Given the description of an element on the screen output the (x, y) to click on. 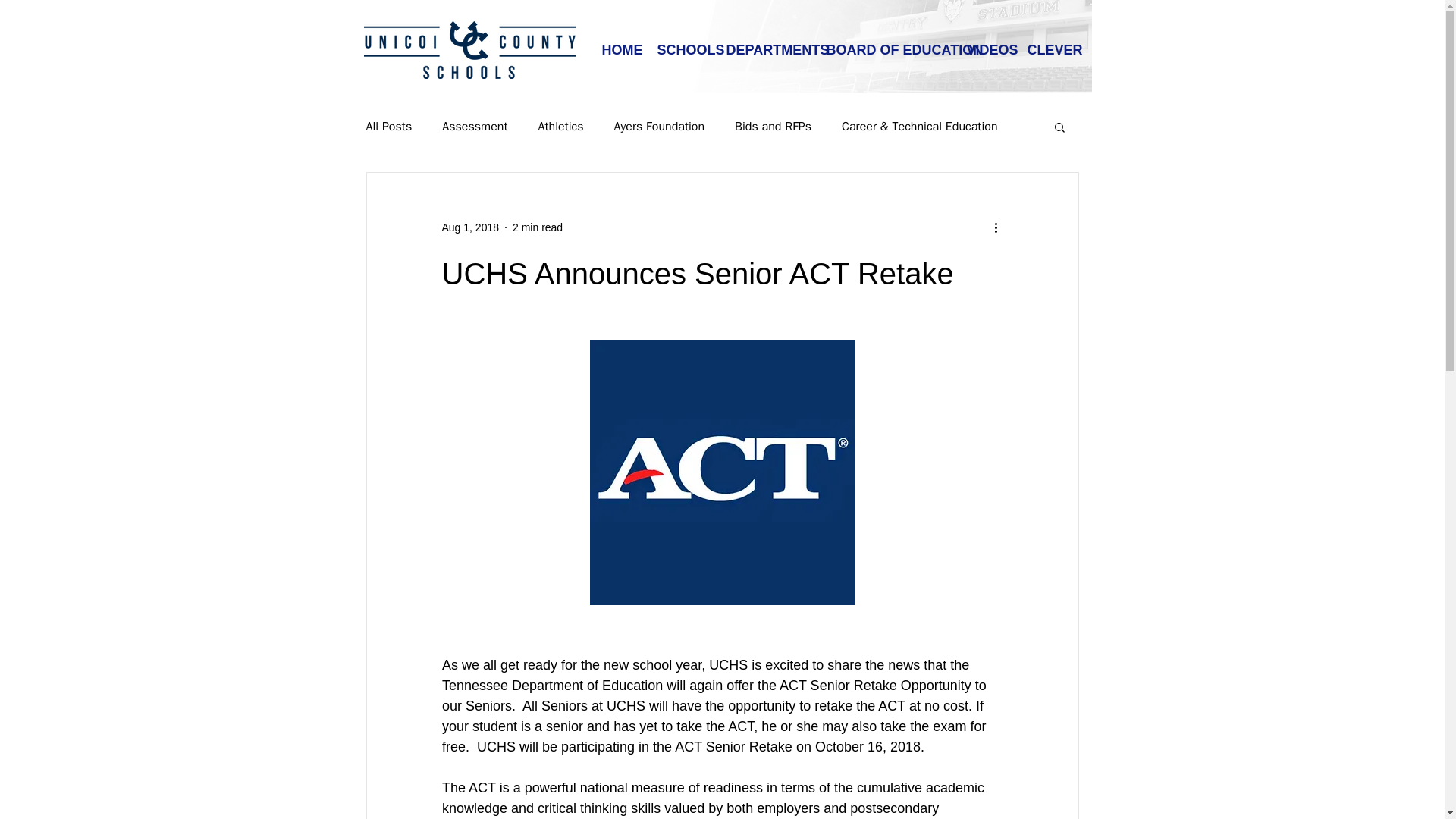
SCHOOLS (680, 49)
HOME (617, 49)
Assessment (474, 125)
BOARD OF EDUCATION (884, 49)
VIDEOS (985, 49)
2 min read (537, 227)
Bids and RFPs (772, 125)
DEPARTMENTS (763, 49)
All Posts (388, 125)
Ayers Foundation (659, 125)
